Given the description of an element on the screen output the (x, y) to click on. 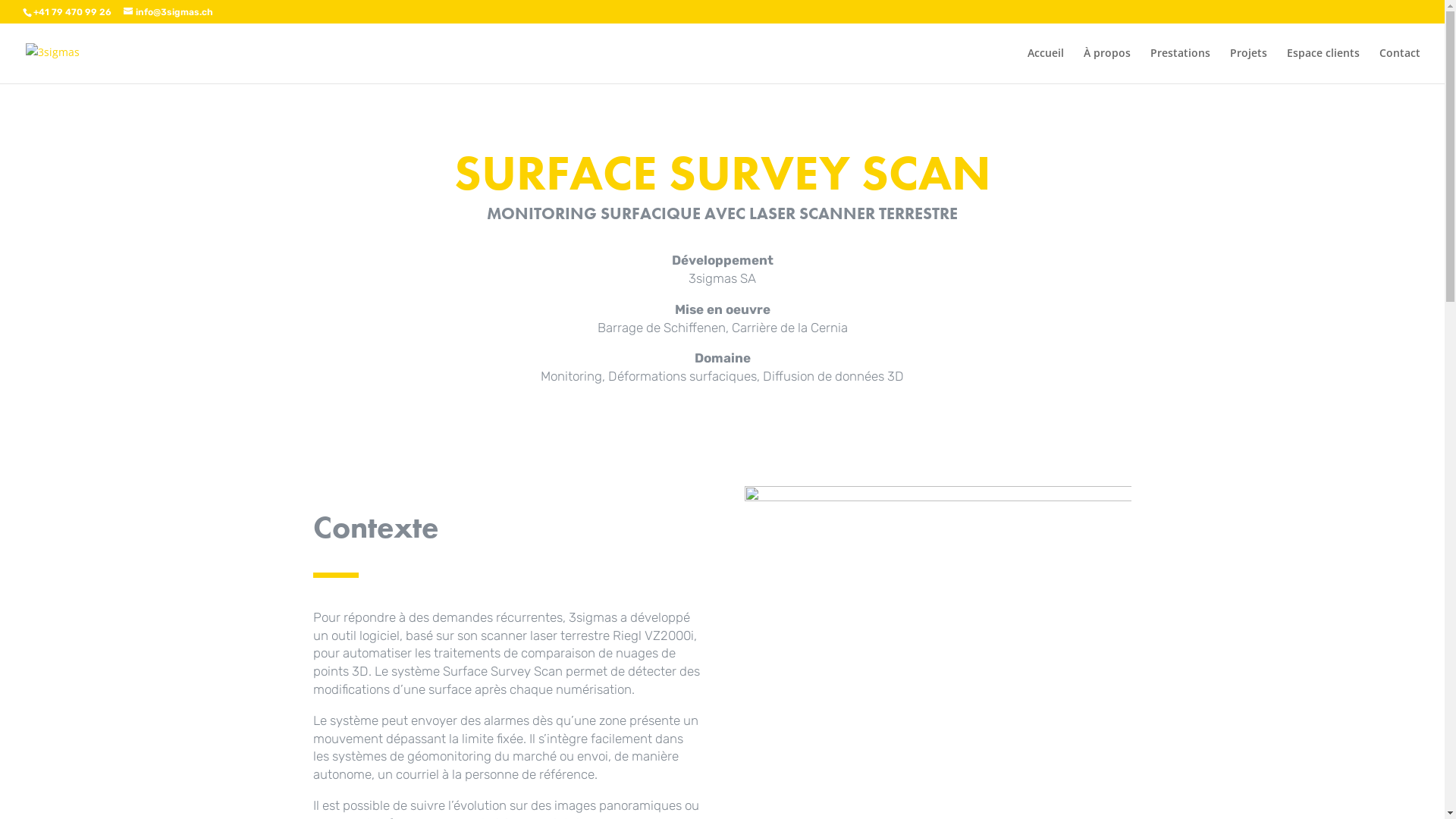
Contact Element type: text (1399, 65)
Accueil Element type: text (1045, 65)
Prestations Element type: text (1180, 65)
info@3sigmas.ch Element type: text (168, 11)
Espace clients Element type: text (1322, 65)
Projets Element type: text (1248, 65)
